Given the description of an element on the screen output the (x, y) to click on. 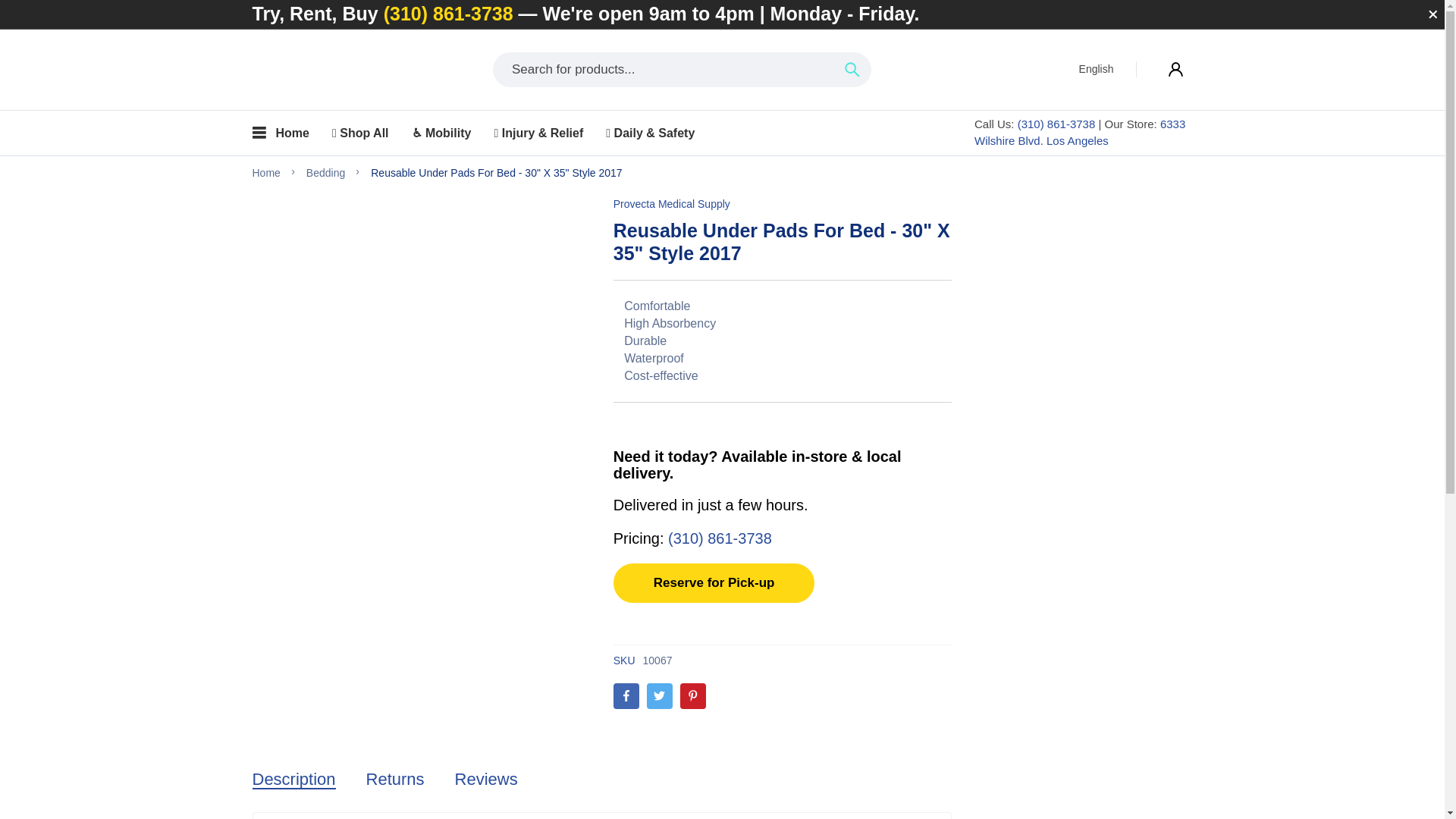
Twitter (659, 696)
Provecta Medical Supply (671, 203)
Provecta Medical Supply (324, 68)
Facebook (625, 696)
Home (265, 173)
Reserve for Pick-up (713, 582)
Pinterest (692, 696)
Reusable Under Pads For Bed - 30" X 35" Style 2017 (496, 173)
Bedding (325, 173)
6333 Wilshire Blvd. Los Angeles (1079, 132)
